Given the description of an element on the screen output the (x, y) to click on. 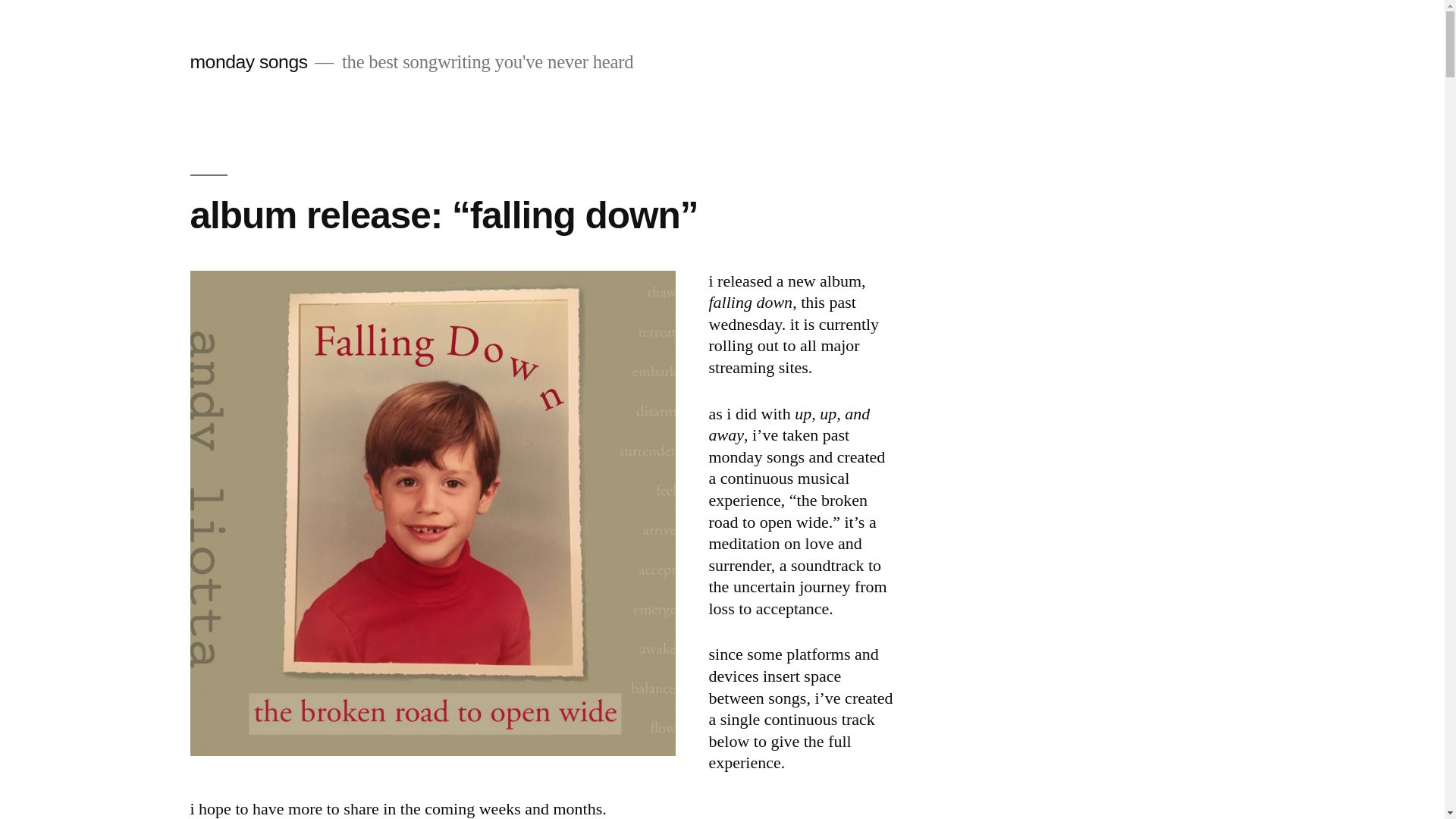
monday songs (248, 61)
